Given the description of an element on the screen output the (x, y) to click on. 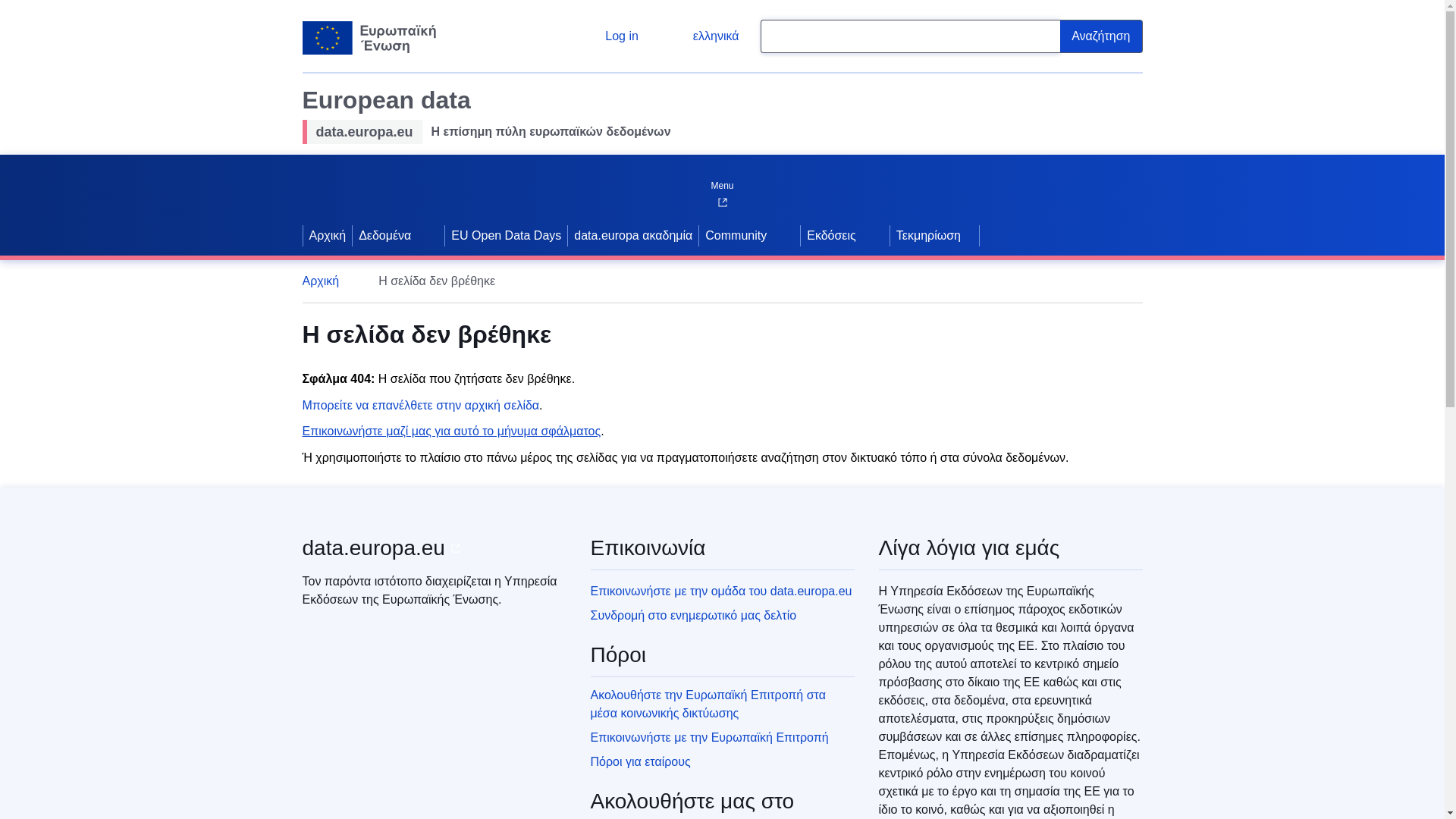
Community (734, 235)
Log in (609, 36)
Menu (721, 181)
EU Open Data Days (506, 235)
European Union (368, 37)
